Given the description of an element on the screen output the (x, y) to click on. 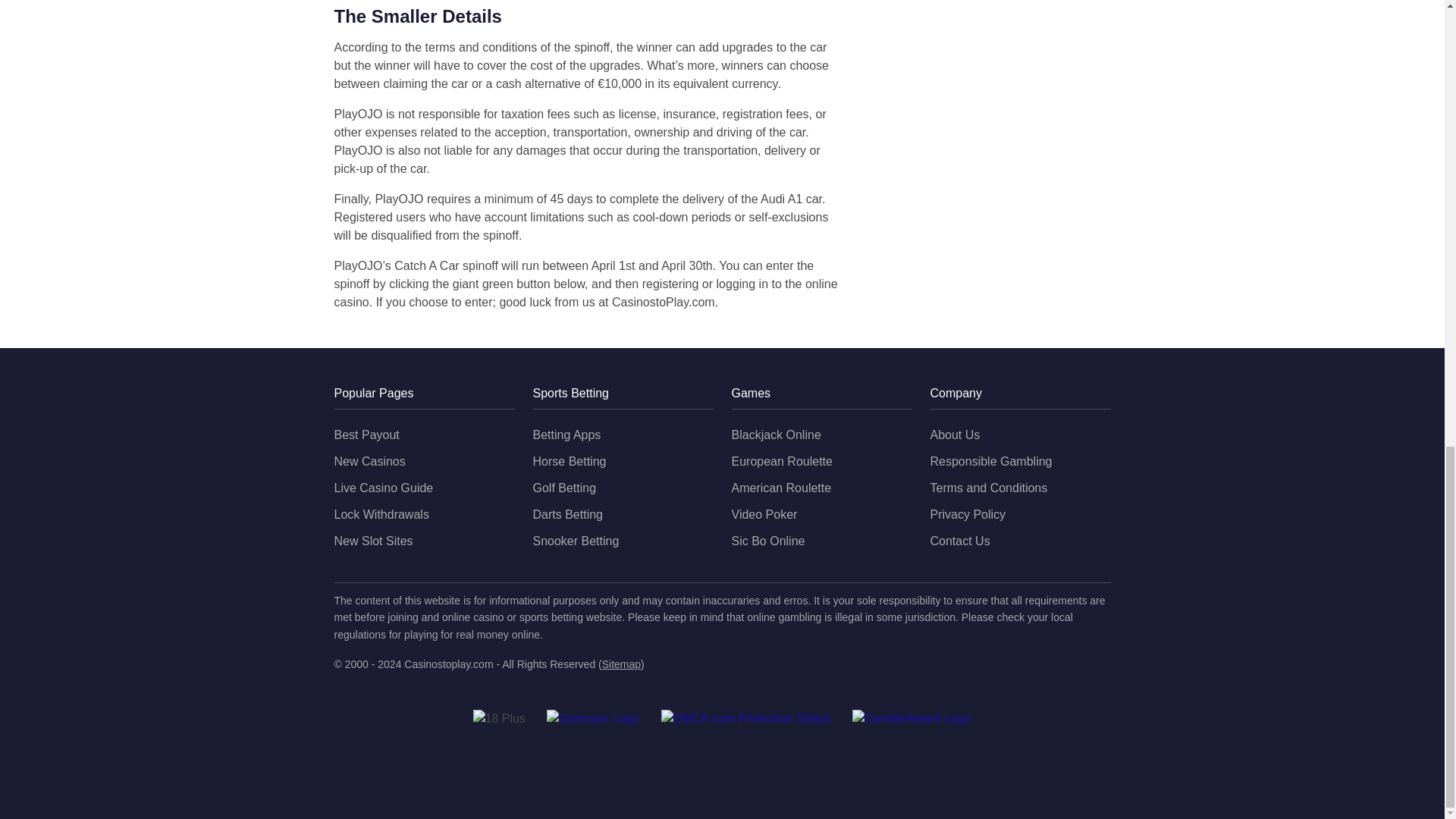
18 Plus (499, 719)
GambleAware Logo (911, 719)
DMCA.com Protection Status (746, 719)
Gamcare Logo (593, 719)
